Given the description of an element on the screen output the (x, y) to click on. 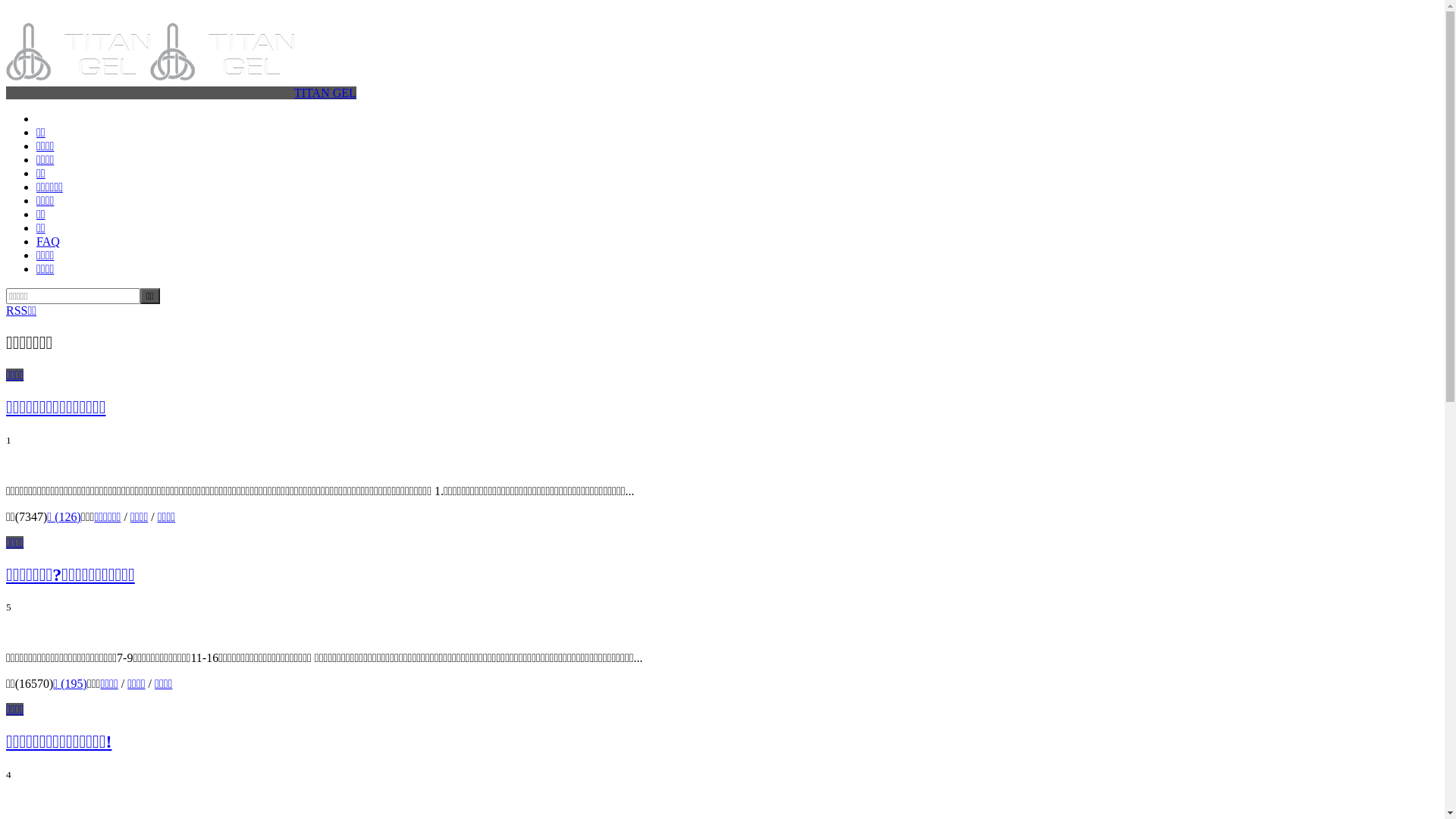
FAQ Element type: text (47, 241)
TITAN GEL Element type: text (181, 92)
